Given the description of an element on the screen output the (x, y) to click on. 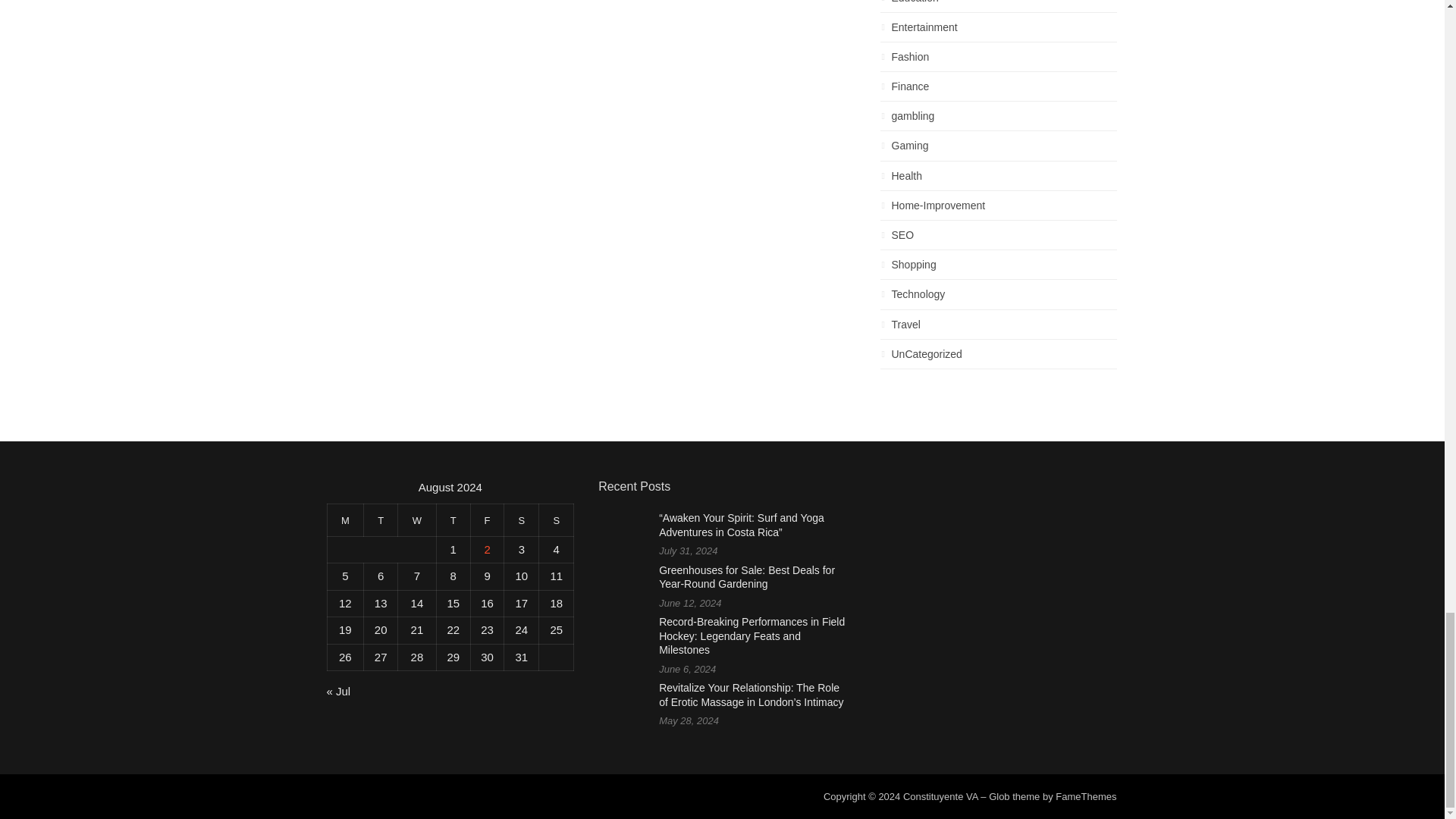
Greenhouses for Sale: Best Deals for Year-Round Gardening (746, 577)
Tuesday (380, 520)
Sunday (555, 520)
Friday (486, 520)
Saturday (520, 520)
Thursday (452, 520)
Wednesday (416, 520)
Monday (345, 520)
